Given the description of an element on the screen output the (x, y) to click on. 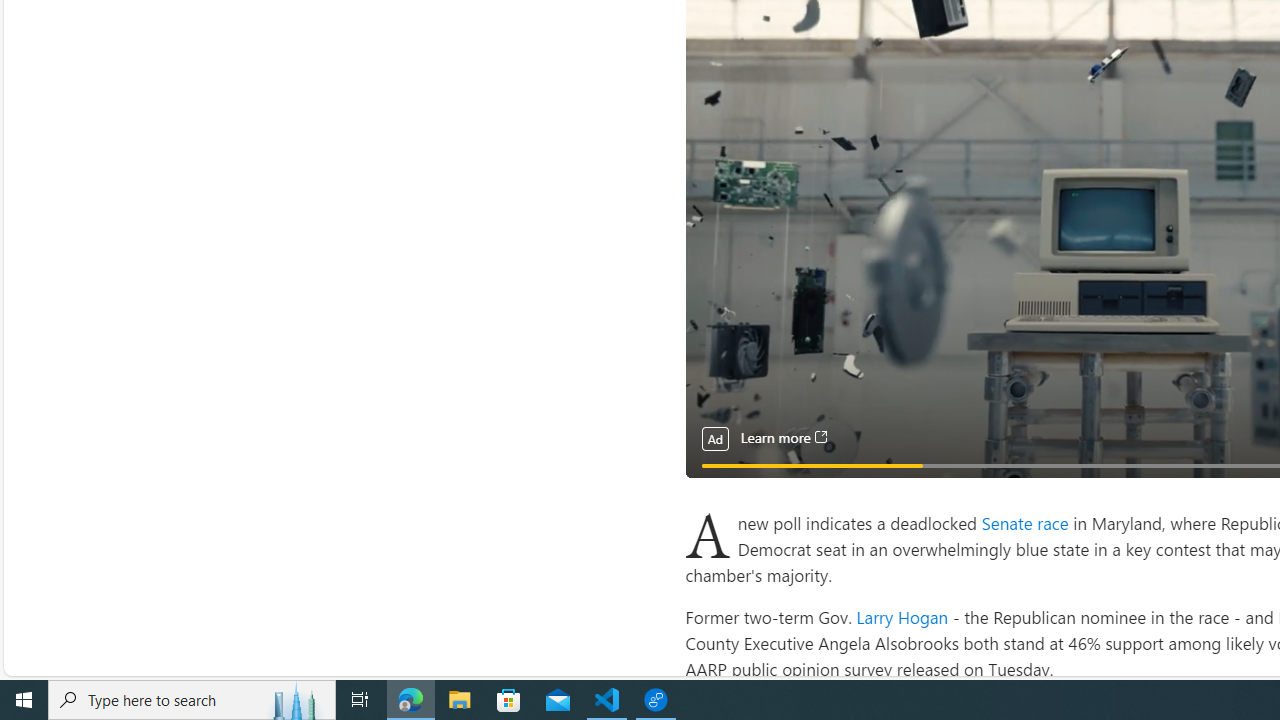
Senate race  (1026, 522)
Learn more (783, 438)
Larry Hogan (902, 615)
Pause (714, 488)
